Given the description of an element on the screen output the (x, y) to click on. 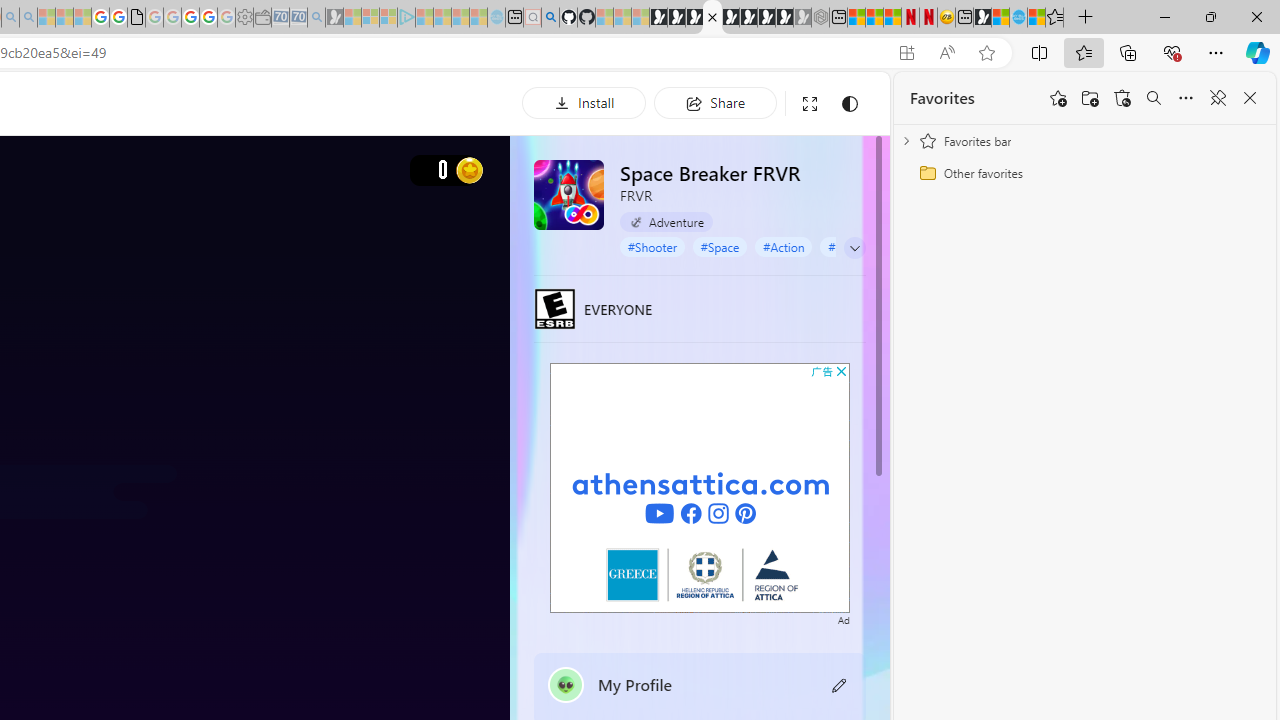
Share (715, 102)
Play Free Online Games | Games from Microsoft Start (658, 17)
Search favorites (1153, 98)
MSN (982, 17)
Install (583, 102)
